Given the description of an element on the screen output the (x, y) to click on. 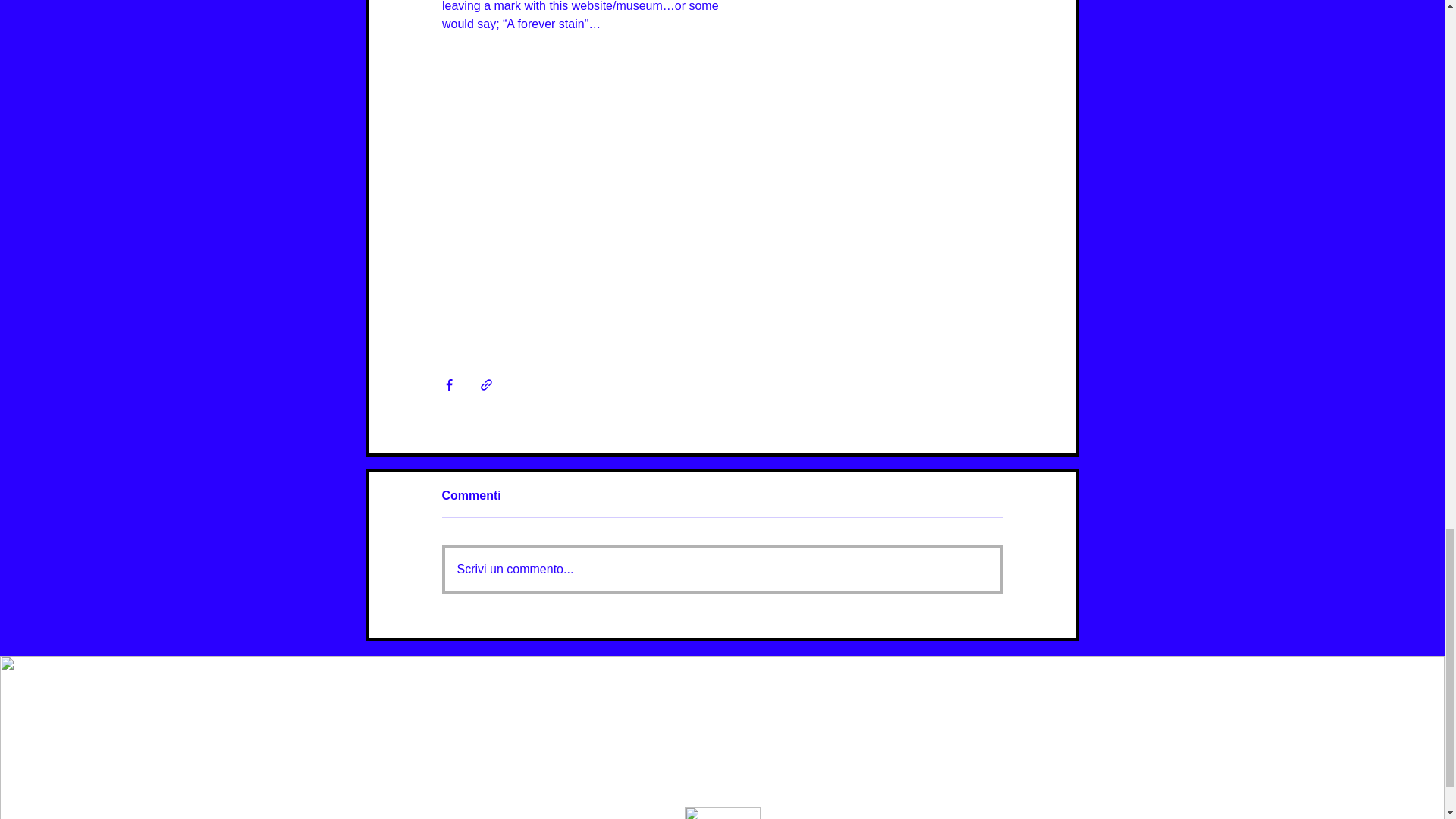
Scrivi un commento... (721, 568)
